Given the description of an element on the screen output the (x, y) to click on. 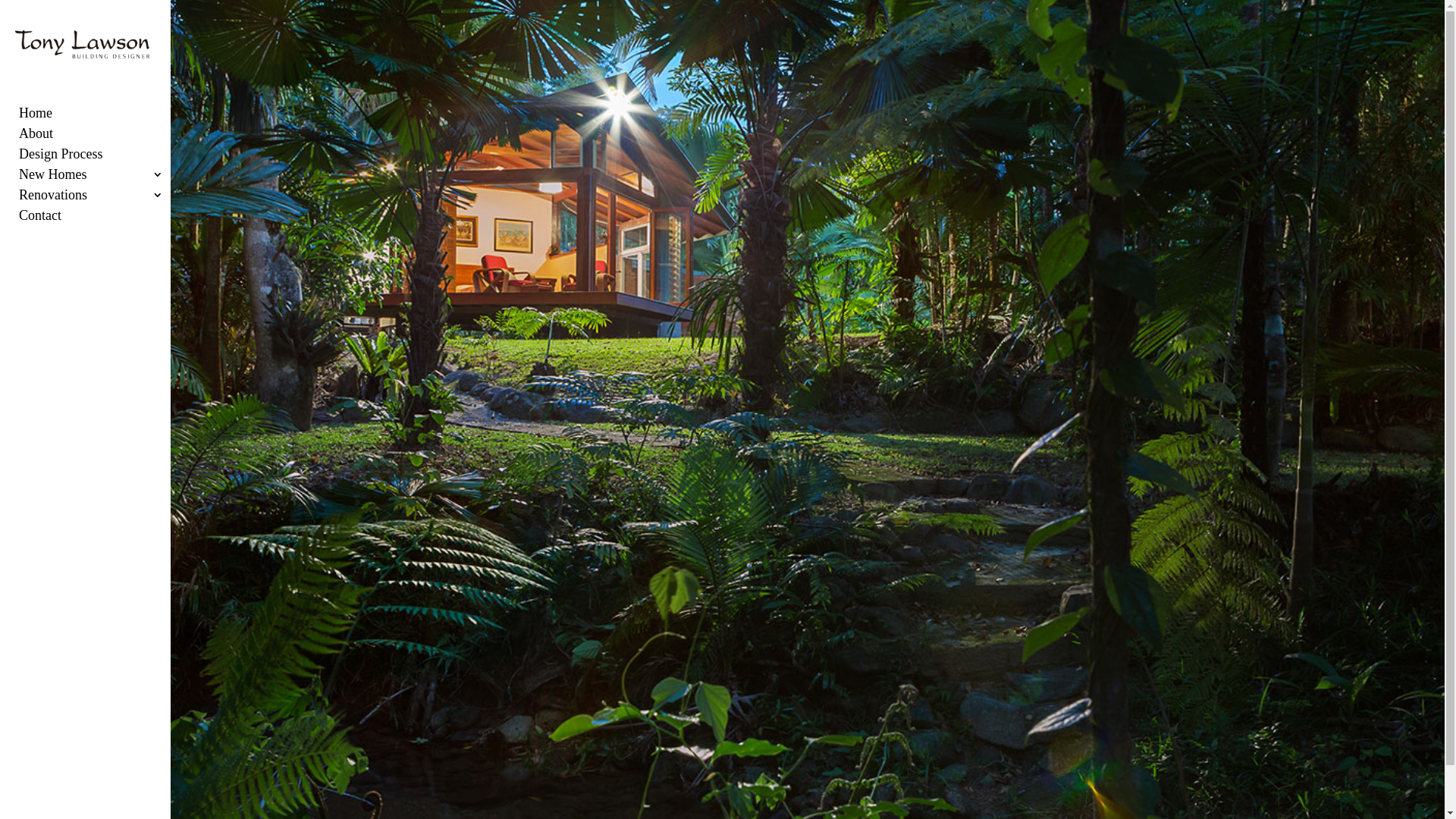
New Homes Element type: text (101, 179)
Home Element type: text (101, 117)
About Element type: text (101, 138)
Renovations Element type: text (101, 199)
Contact Element type: text (101, 220)
Design Process Element type: text (101, 158)
